Given the description of an element on the screen output the (x, y) to click on. 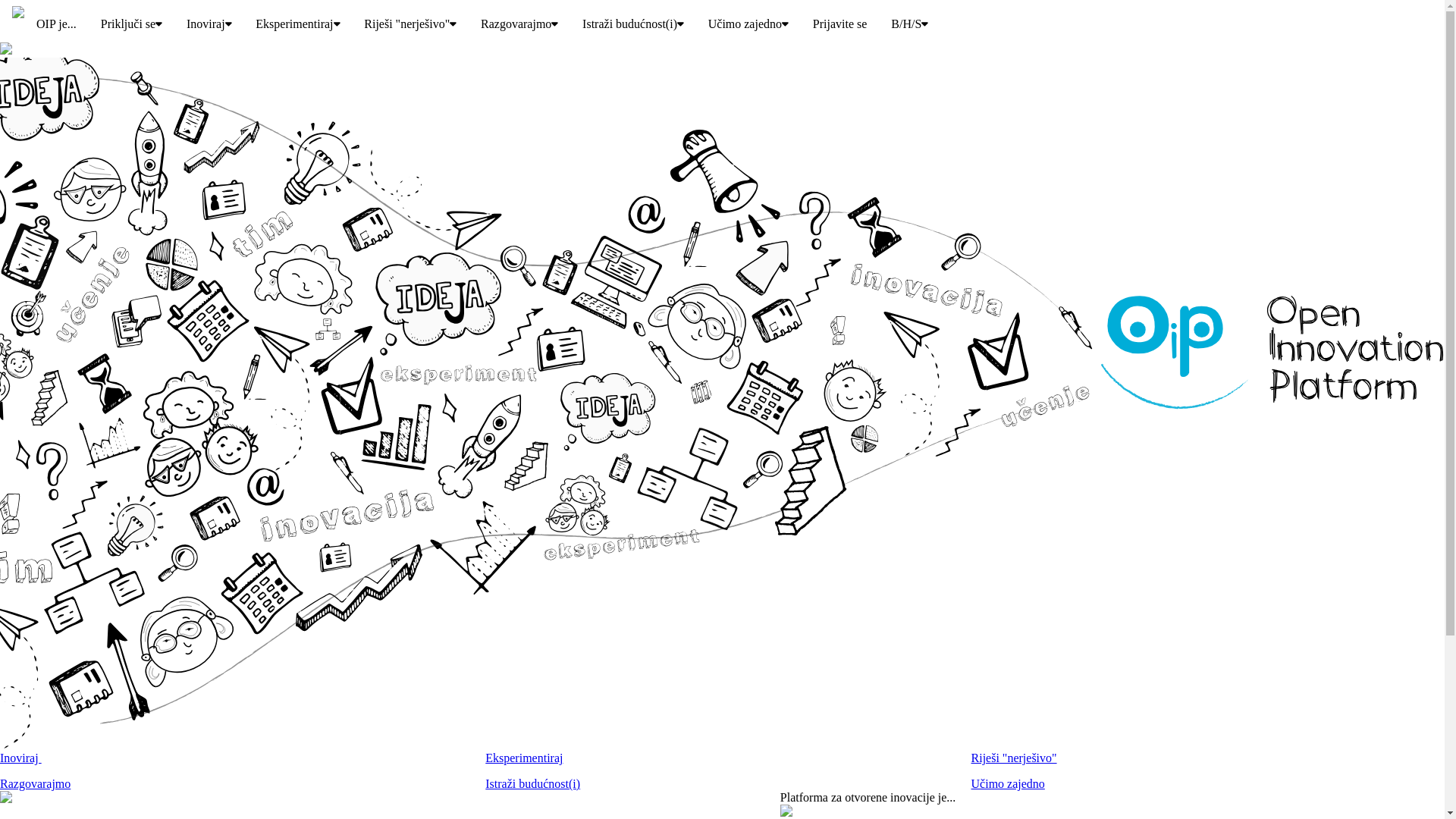
Eksperimentiraj Element type: text (523, 757)
Prijavite se Element type: text (839, 24)
B/H/S Element type: text (909, 24)
OIP je... Element type: text (56, 24)
Eksperimentiraj Element type: text (297, 24)
Razgovarajmo Element type: text (35, 783)
Razgovarajmo Element type: text (519, 24)
Inoviraj Element type: text (208, 24)
Inoviraj  Element type: text (20, 757)
